Given the description of an element on the screen output the (x, y) to click on. 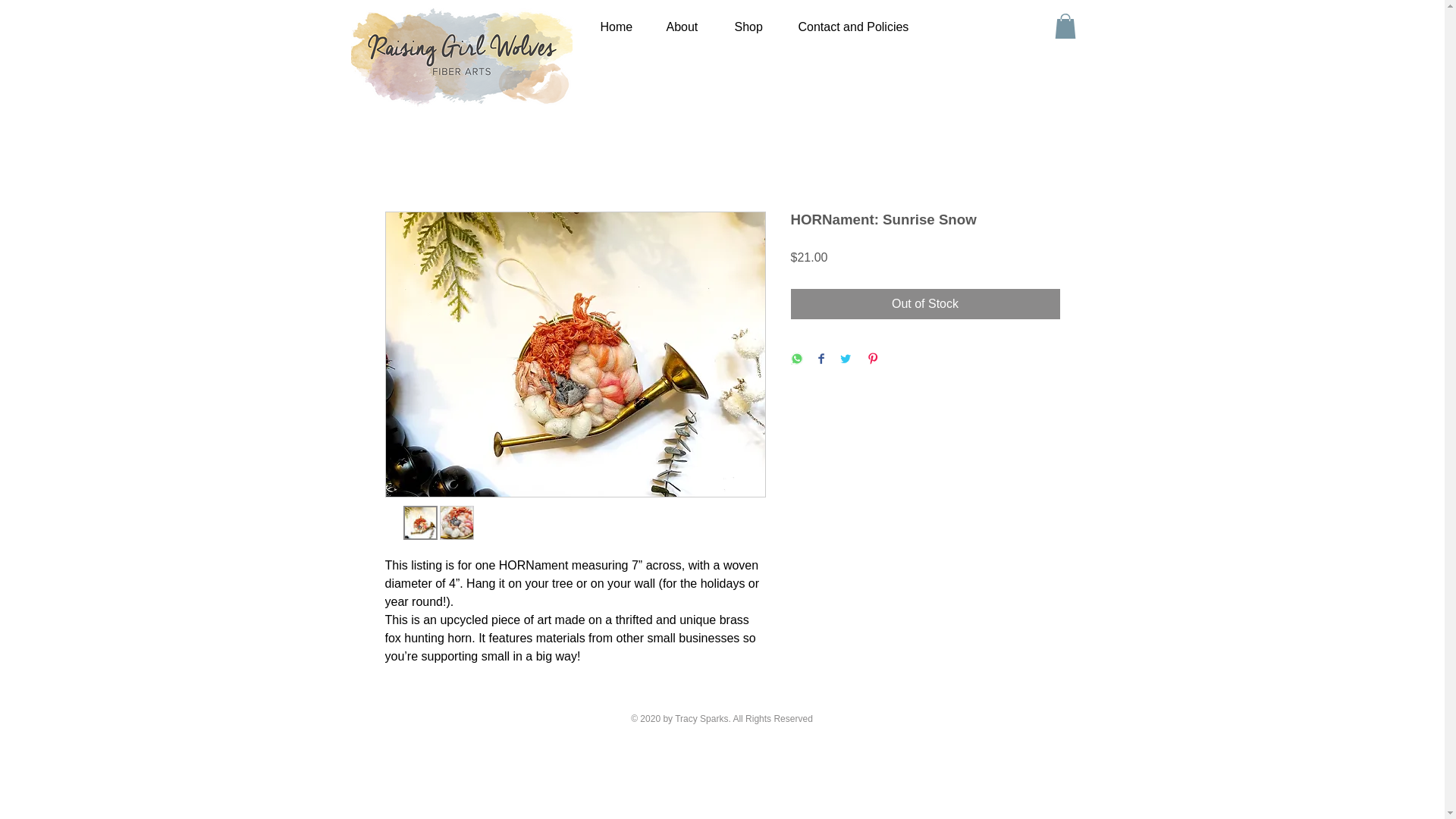
Shop (747, 26)
Home (613, 26)
Out of Stock (924, 304)
About (681, 26)
